Given the description of an element on the screen output the (x, y) to click on. 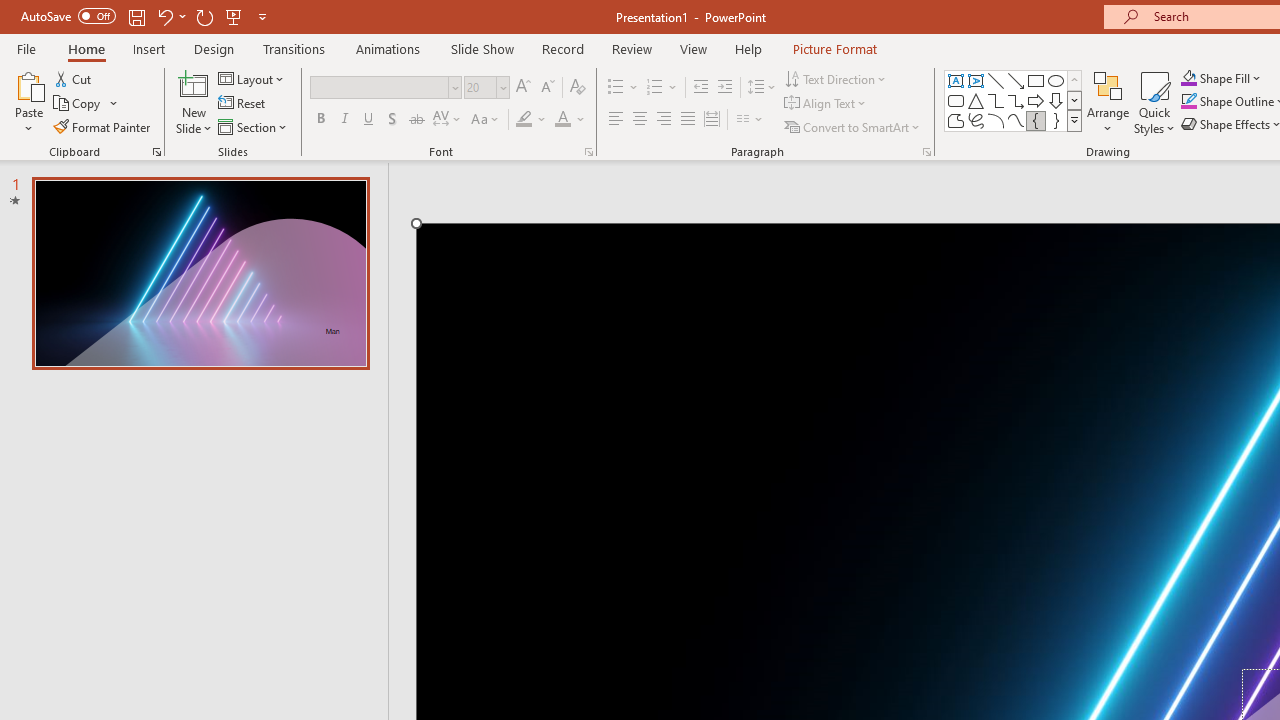
Picture Format (834, 48)
